Given the description of an element on the screen output the (x, y) to click on. 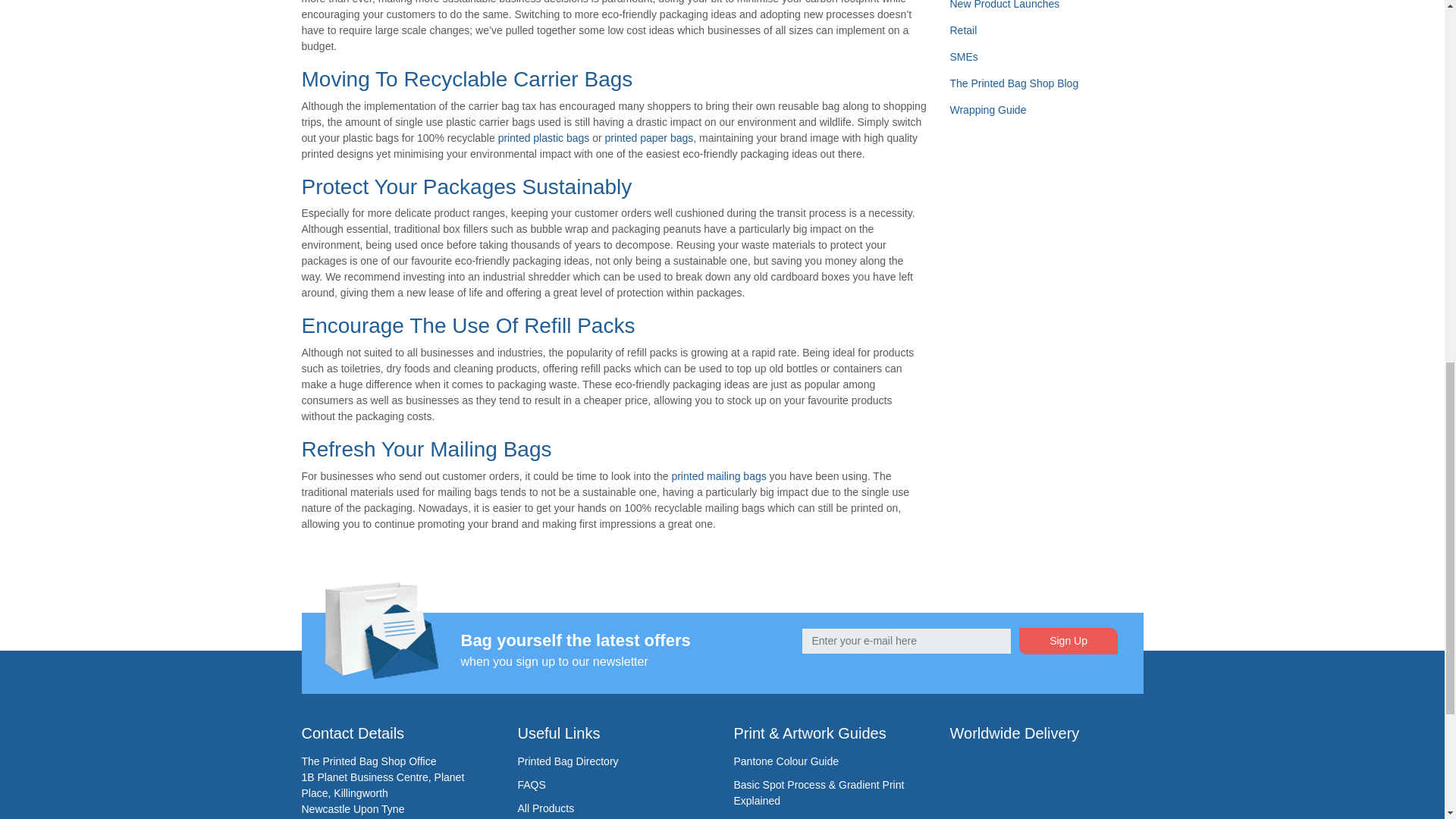
printed mailing bags (718, 476)
printed plastic bags (543, 137)
Sign Up (1068, 641)
printed paper bags (649, 137)
